Given the description of an element on the screen output the (x, y) to click on. 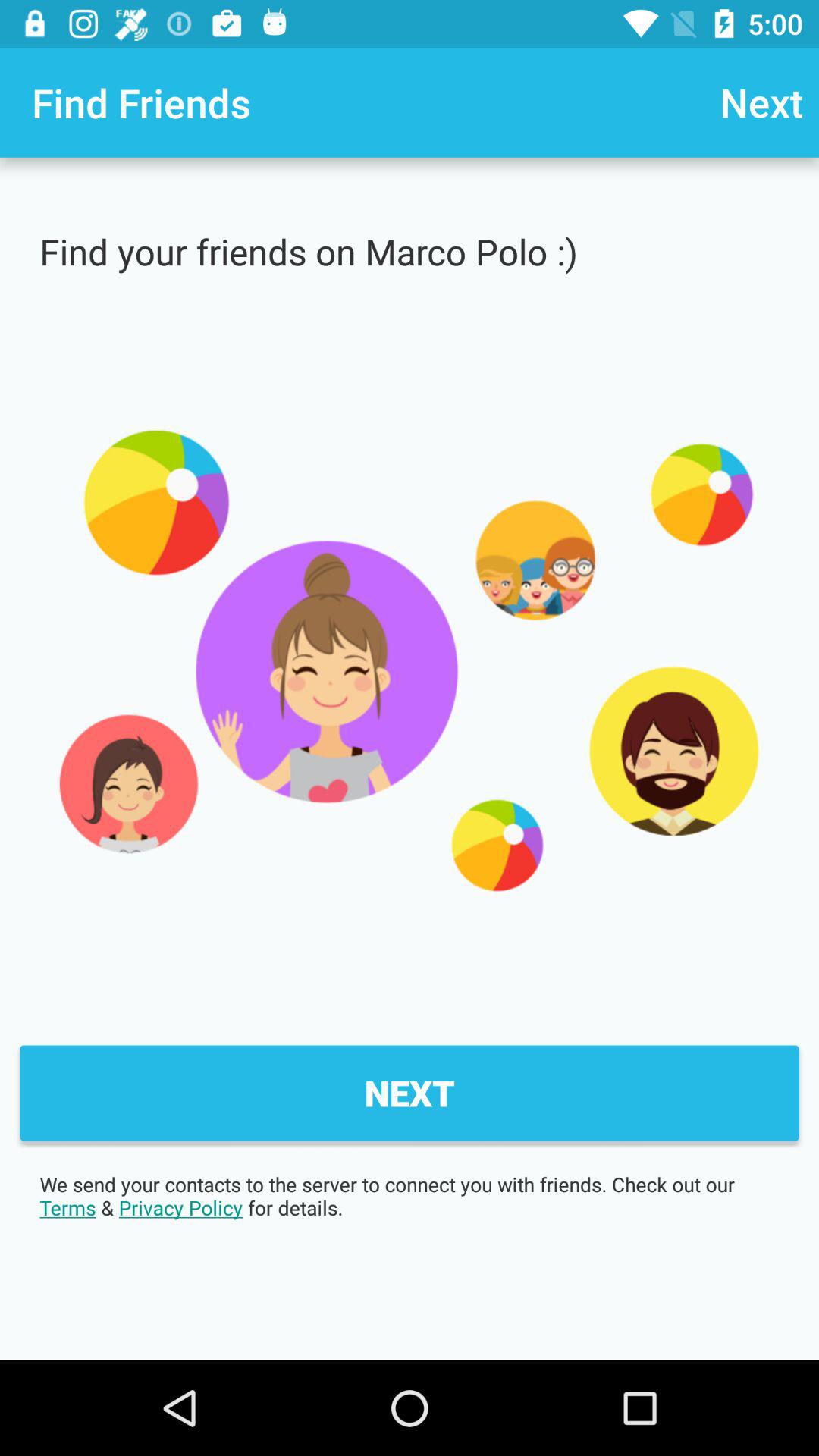
flip until we send your item (409, 1196)
